Given the description of an element on the screen output the (x, y) to click on. 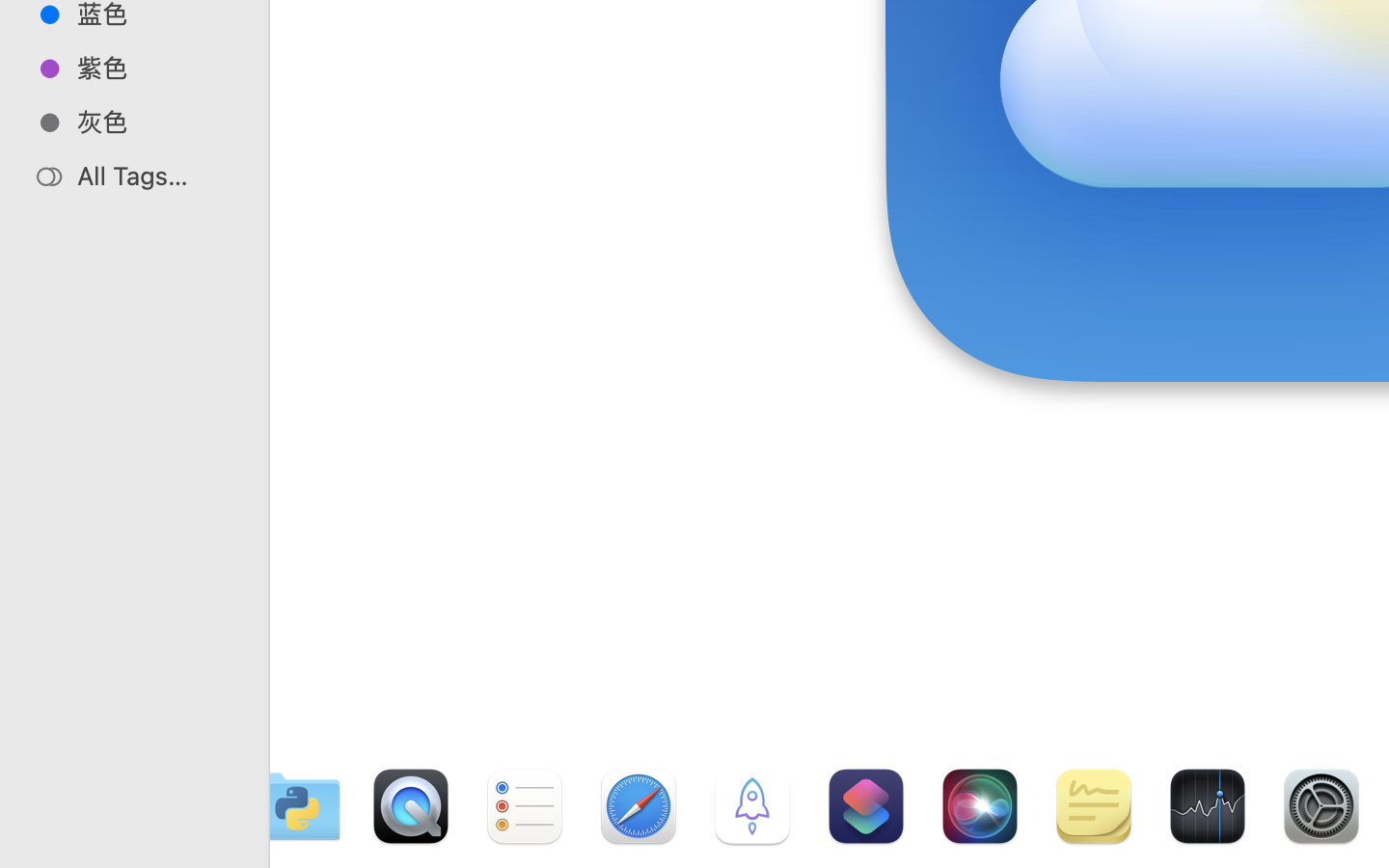
灰色 Element type: AXStaticText (155, 121)
